Given the description of an element on the screen output the (x, y) to click on. 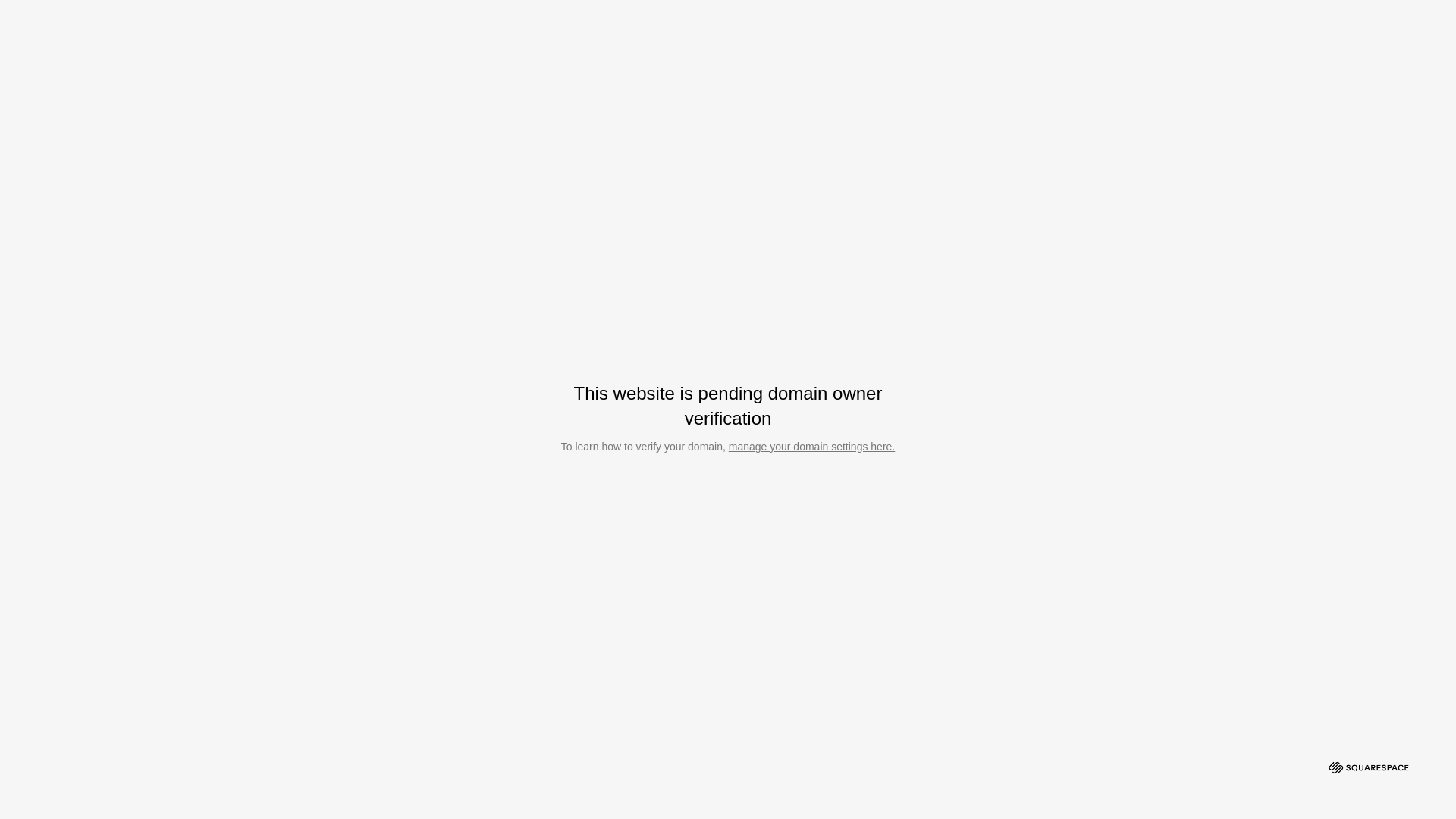
manage your domain settings here. Element type: text (811, 446)
